Given the description of an element on the screen output the (x, y) to click on. 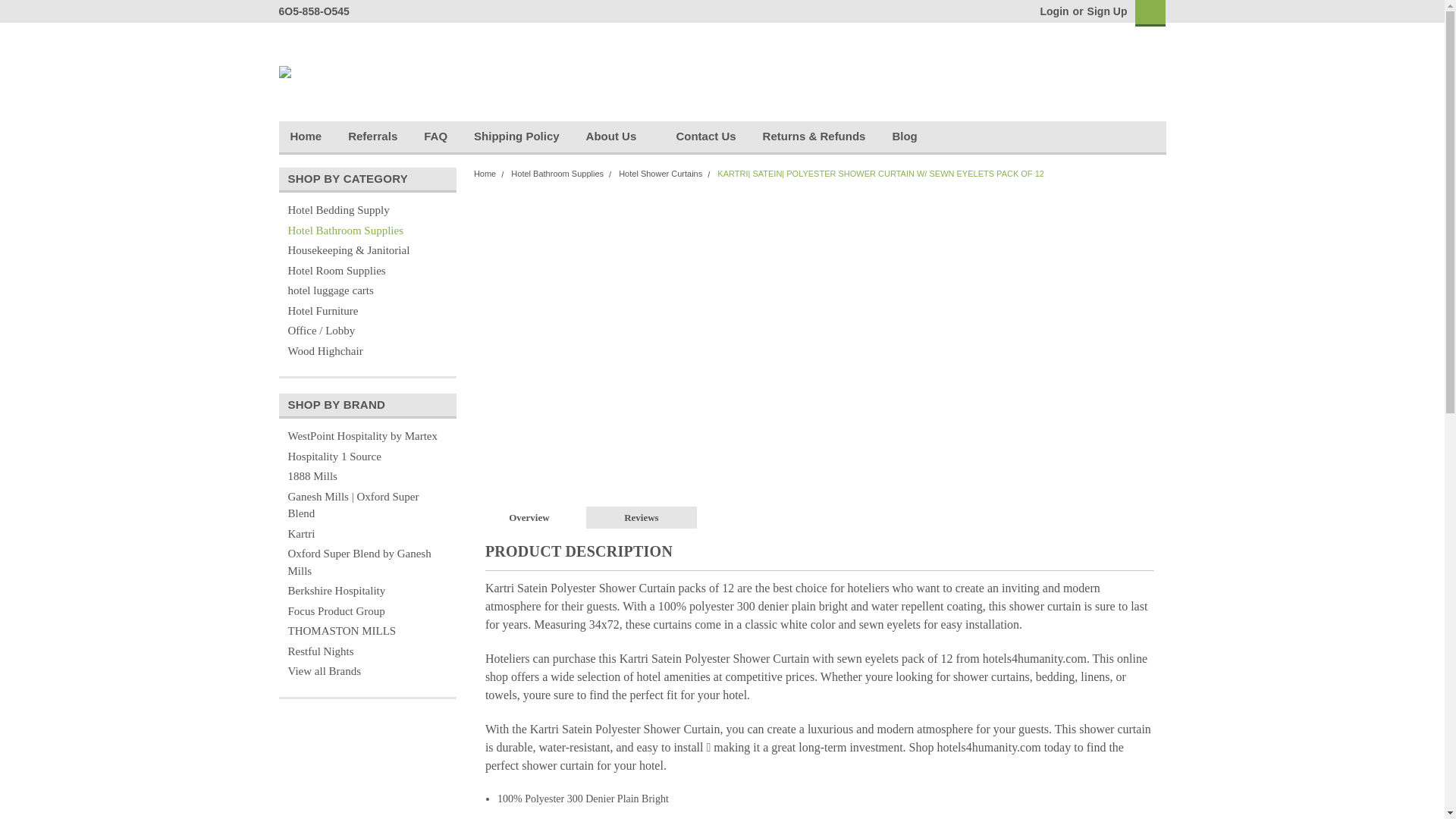
Login (1054, 11)
Sign Up (1104, 11)
hotel supplies (285, 71)
